Given the description of an element on the screen output the (x, y) to click on. 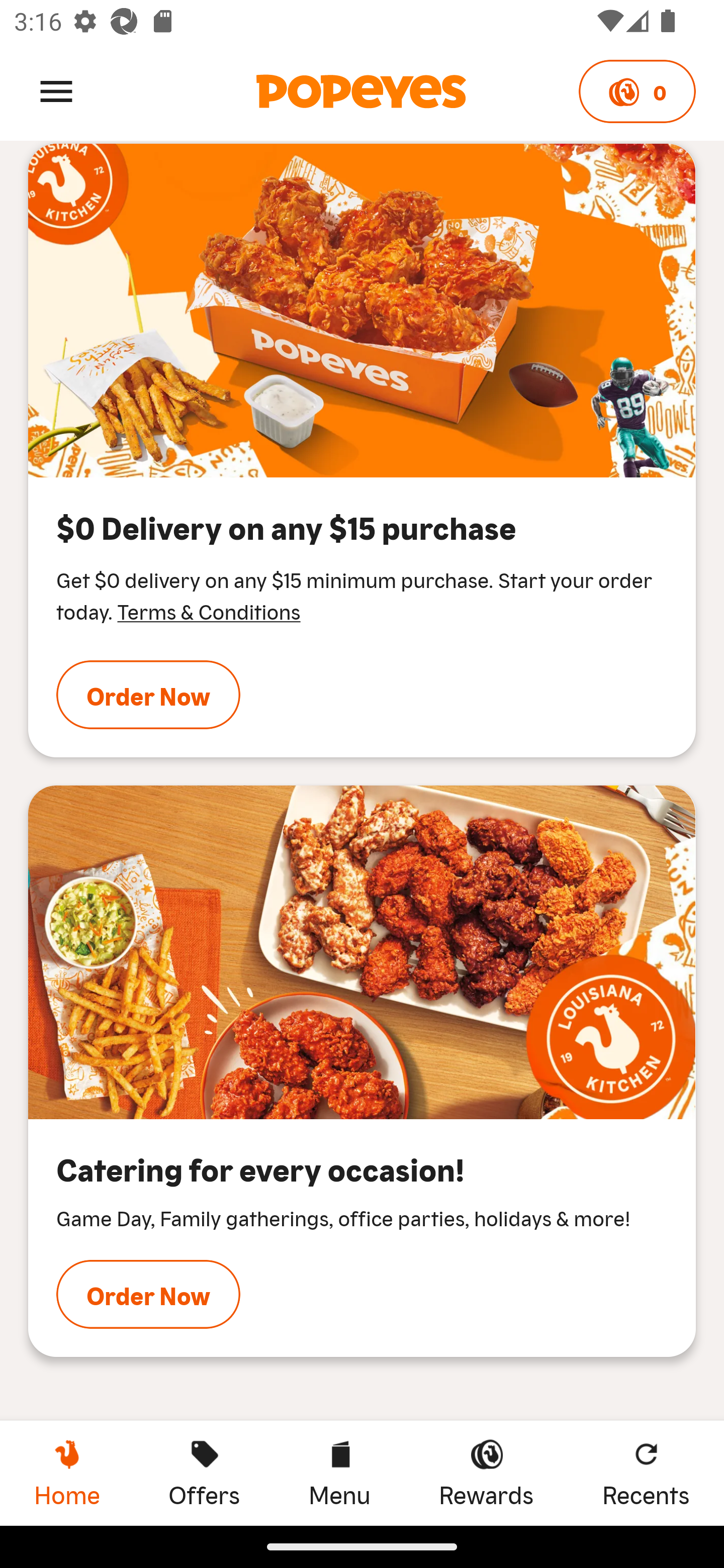
Menu  (56, 90)
0 Points 0 (636, 91)
Popeyes Wings (361, 310)
Order Now (148, 694)
Catering for every occasion! (361, 952)
Order Now (148, 1294)
Home, current page Home Home, current page (66, 1472)
Offers Offers Offers (203, 1472)
Menu Menu Menu (339, 1472)
Rewards Rewards Rewards (486, 1472)
Recents Recents Recents (646, 1472)
